Given the description of an element on the screen output the (x, y) to click on. 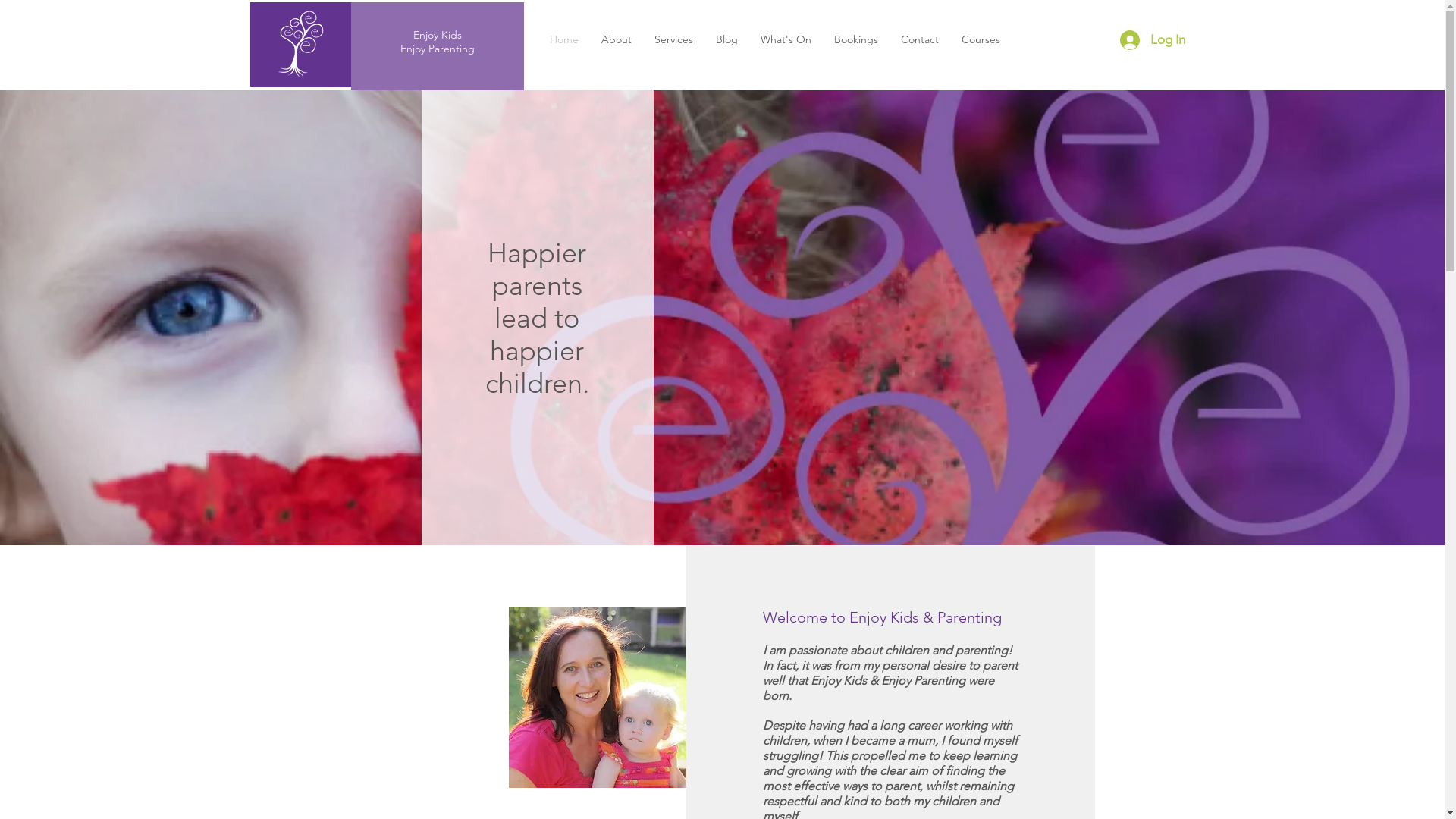
Enjoy Kids
Enjoy Parenting Element type: text (437, 41)
Home Element type: text (563, 39)
What's On Element type: text (785, 39)
Contact Element type: text (918, 39)
Log In Element type: text (1151, 39)
Services Element type: text (673, 39)
Courses Element type: text (979, 39)
Blog Element type: text (725, 39)
Bookings Element type: text (855, 39)
About Element type: text (616, 39)
